Given the description of an element on the screen output the (x, y) to click on. 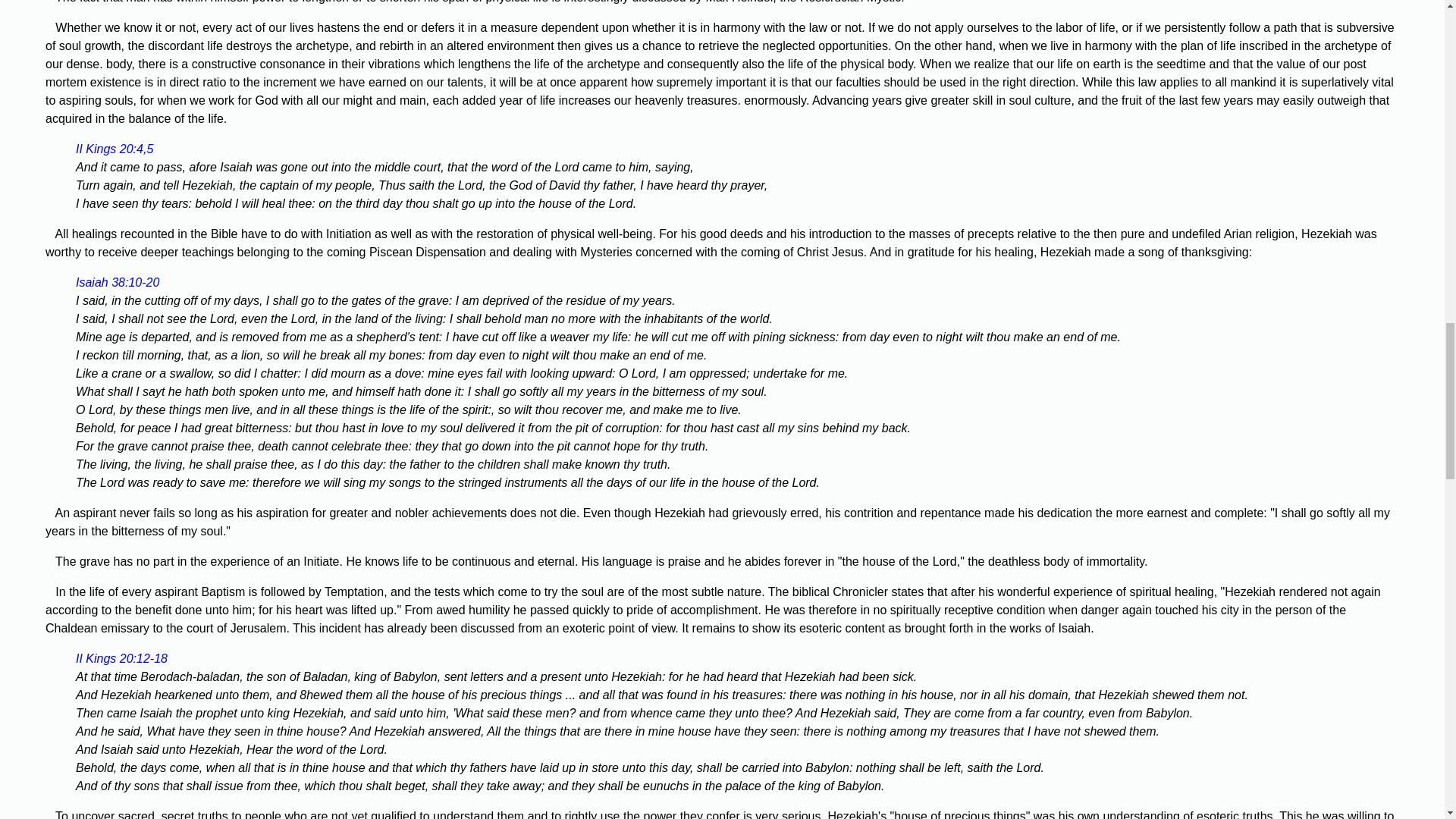
II Kings 20:4,5 (113, 148)
II Kings 20:12-18 (121, 658)
Isaiah 38:10-20 (116, 282)
